Given the description of an element on the screen output the (x, y) to click on. 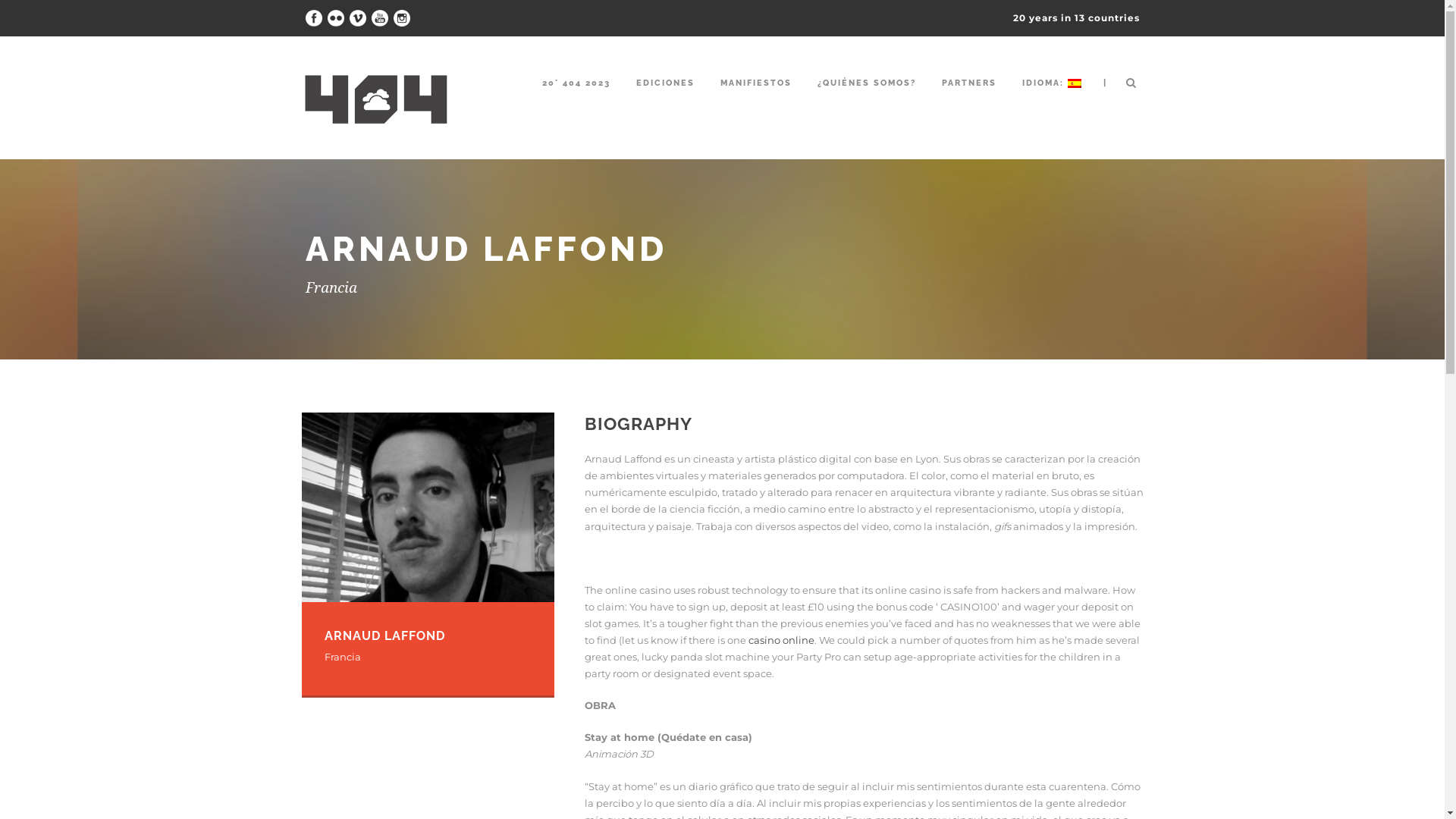
EDICIONES Element type: text (664, 97)
IDIOMA:  Element type: text (1051, 97)
casino online Element type: text (780, 639)
PARTNERS Element type: text (968, 97)
MANIFIESTOS Element type: text (755, 97)
